Given the description of an element on the screen output the (x, y) to click on. 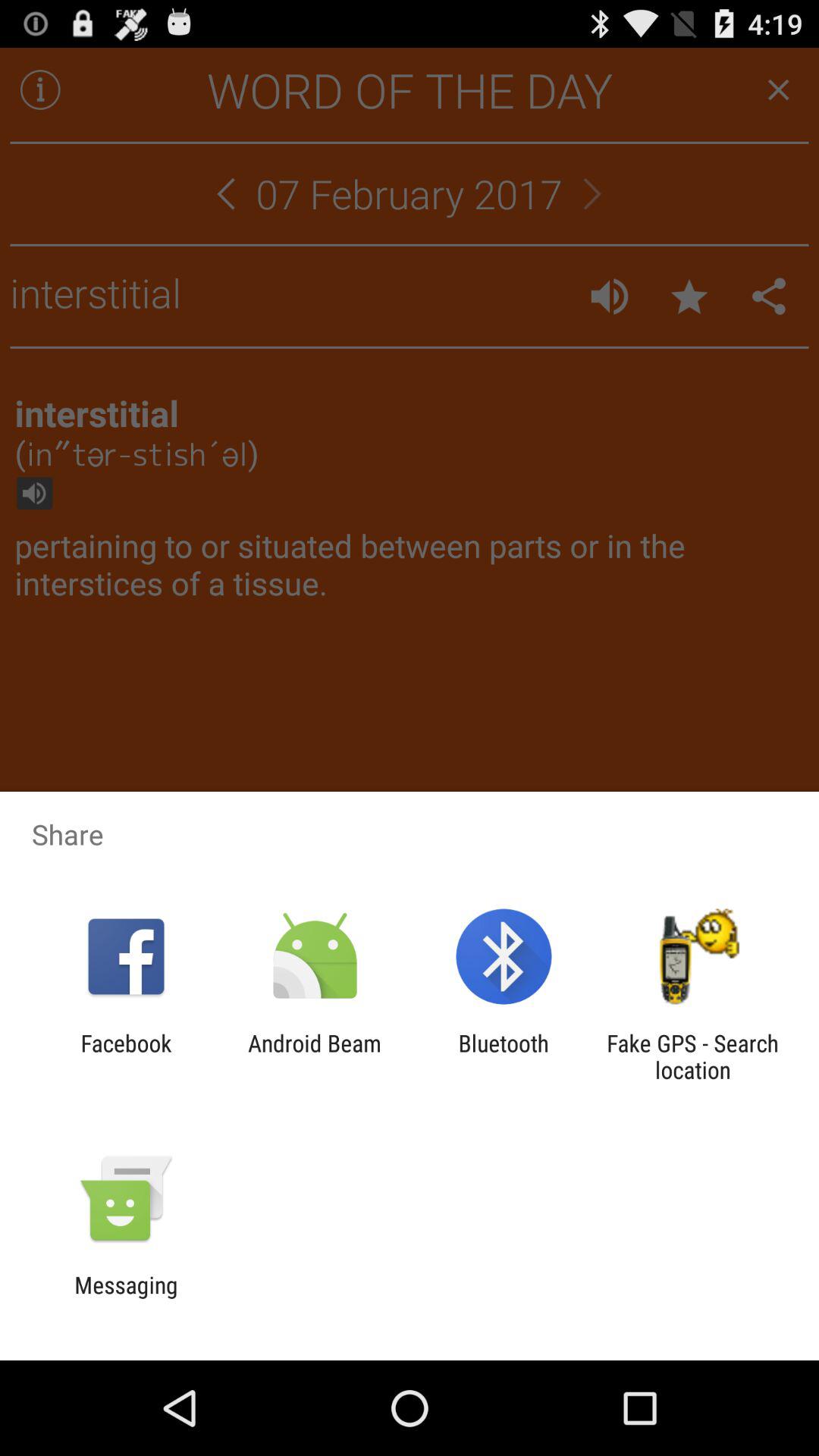
select item next to the facebook icon (314, 1056)
